Given the description of an element on the screen output the (x, y) to click on. 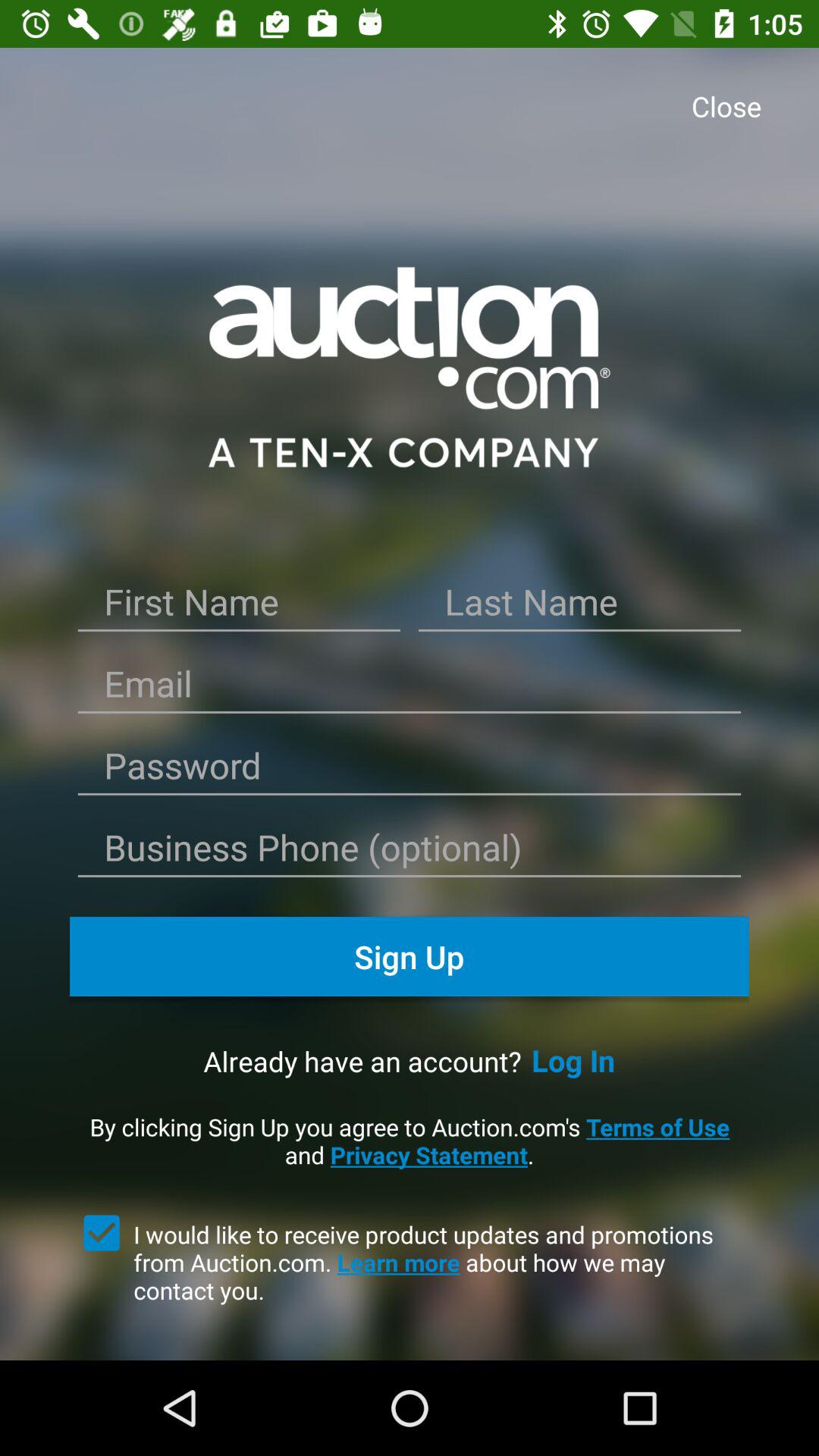
enter business phone number (409, 852)
